Given the description of an element on the screen output the (x, y) to click on. 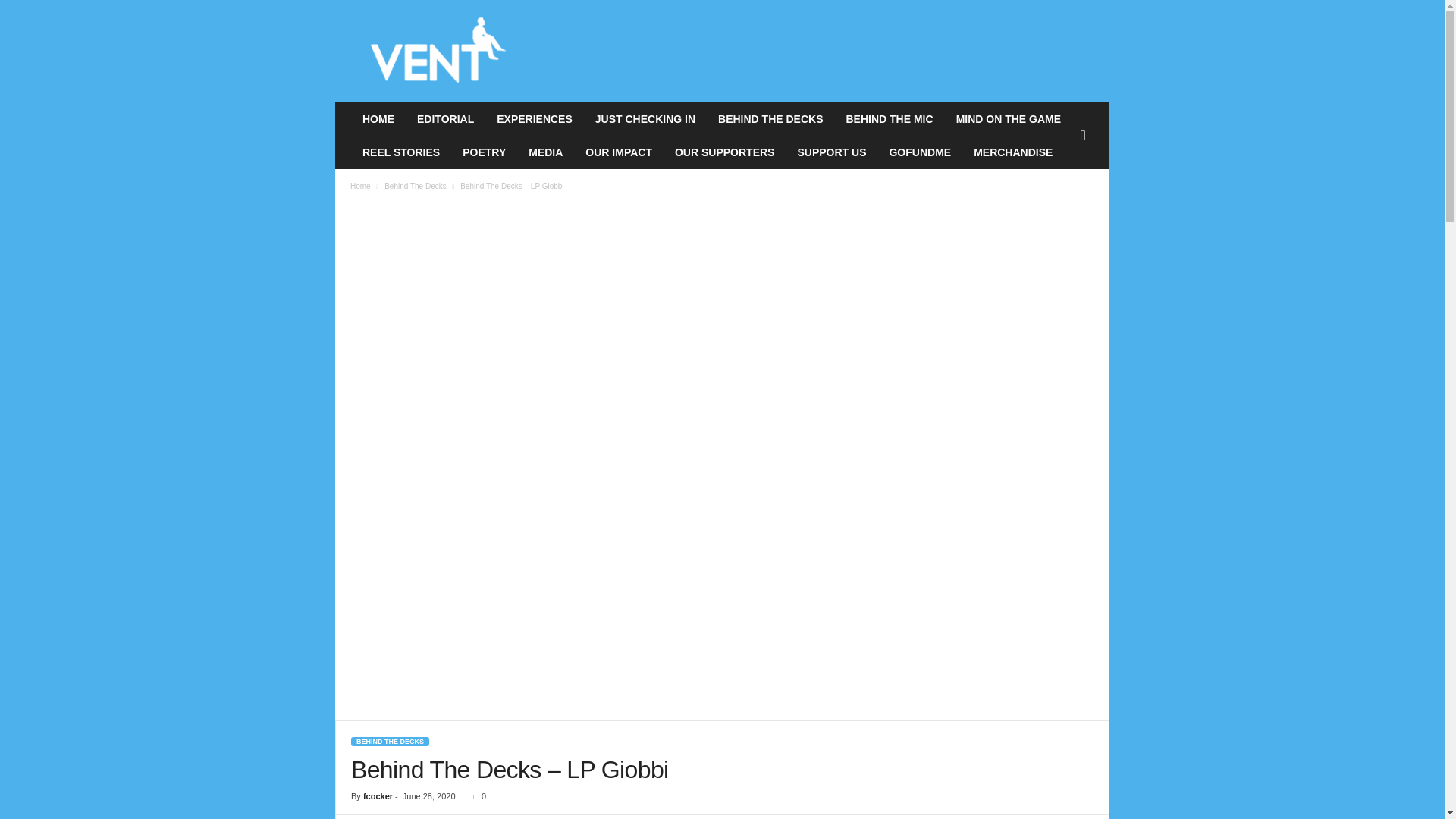
JUST CHECKING IN (644, 118)
EDITORIAL (445, 118)
HOME (378, 118)
EXPERIENCES (533, 118)
View all posts in Behind The Decks (415, 185)
